Given the description of an element on the screen output the (x, y) to click on. 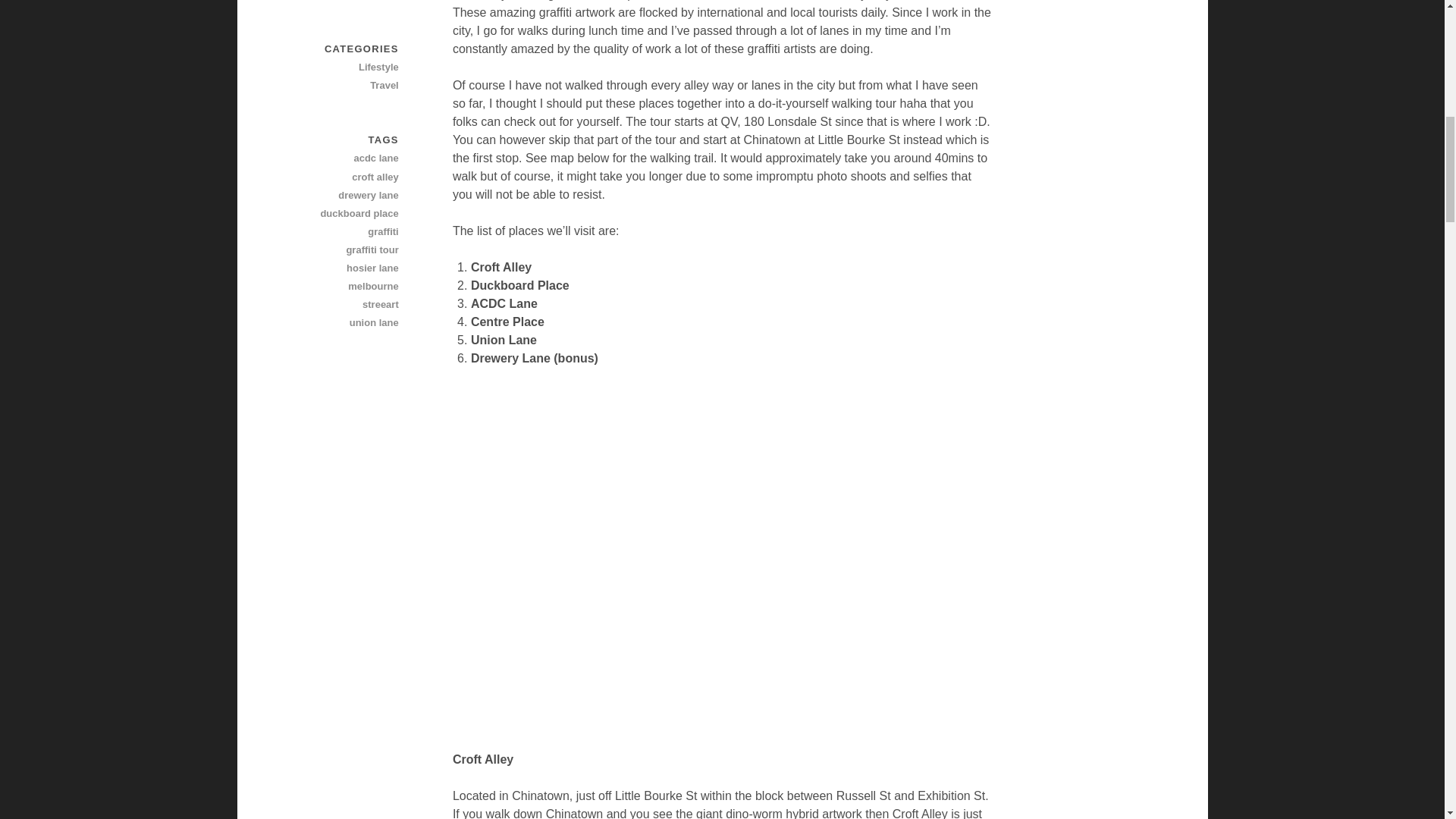
View all posts tagged melbourne (344, 286)
View all posts tagged hosier lane (344, 268)
View all posts tagged union lane (344, 322)
View all posts tagged drewery lane (344, 195)
View all posts tagged streeart (344, 304)
View all posts tagged graffiti (344, 231)
View all posts in Travel (344, 85)
View all posts tagged duckboard place (344, 213)
Lifestyle (344, 67)
View all posts tagged croft alley (344, 177)
View all posts tagged graffiti tour (344, 249)
View all posts tagged acdc lane (344, 158)
View all posts in Lifestyle (344, 67)
